Given the description of an element on the screen output the (x, y) to click on. 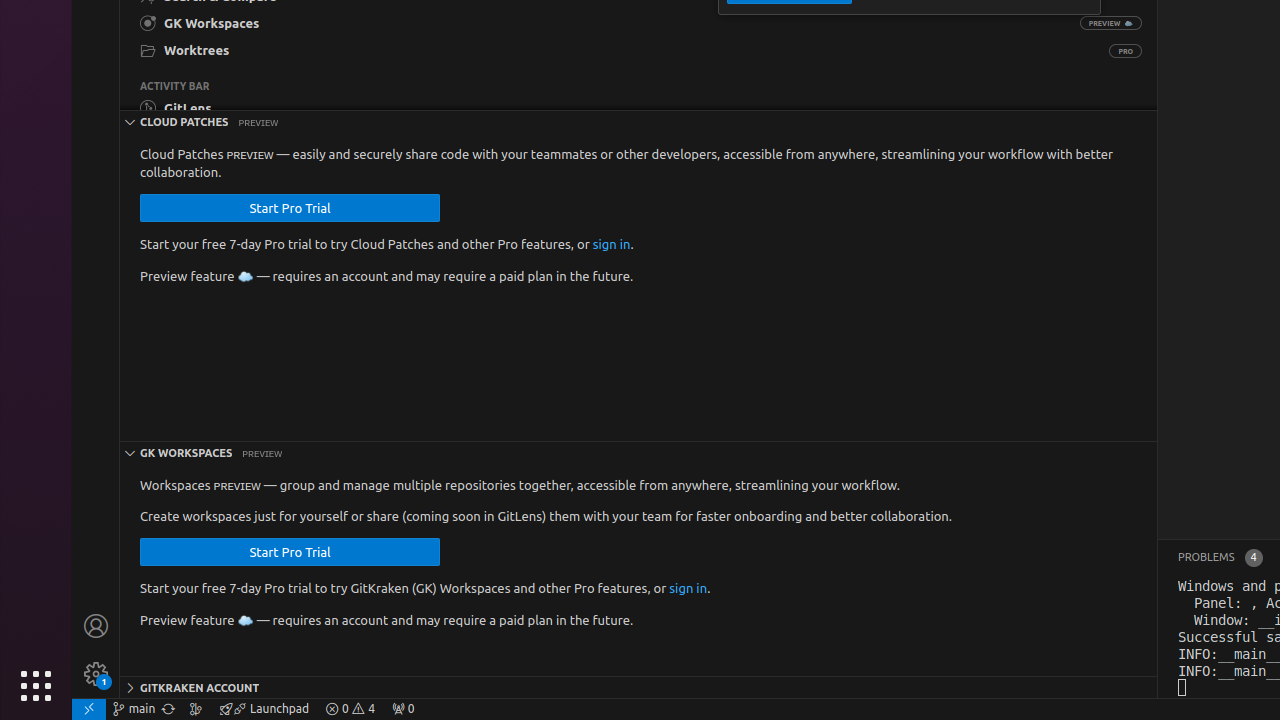
Show the GitLens Commit Graph Element type: push-button (196, 709)
rocket gitlens-unplug Launchpad, GitLens Launchpad ᴘʀᴇᴠɪᴇᴡ    &mdash;    [$(question)](command:gitlens.launchpad.indicator.action?%22info%22 "What is this?") [$(gear)](command:workbench.action.openSettings?%22gitlens.launchpad%22 "Settings")  |  [$(circle-slash) Hide](command:gitlens.launchpad.indicator.action?%22hide%22 "Hide") --- [Launchpad](command:gitlens.launchpad.indicator.action?%info%22 "Learn about Launchpad") organizes your pull requests into actionable groups to help you focus and keep your team unblocked. It's always accessible using the `GitLens: Open Launchpad` command from the Command Palette. --- [Connect an integration](command:gitlens.showLaunchpad?%7B%22source%22%3A%22launchpad-indicator%22%7D "Connect an integration") to get started. Element type: push-button (264, 709)
GitKraken Account Section Element type: push-button (638, 687)
Show GitLens Side Bar Element type: link (633, 107)
Cloud Patches Section Element type: push-button (638, 121)
